Given the description of an element on the screen output the (x, y) to click on. 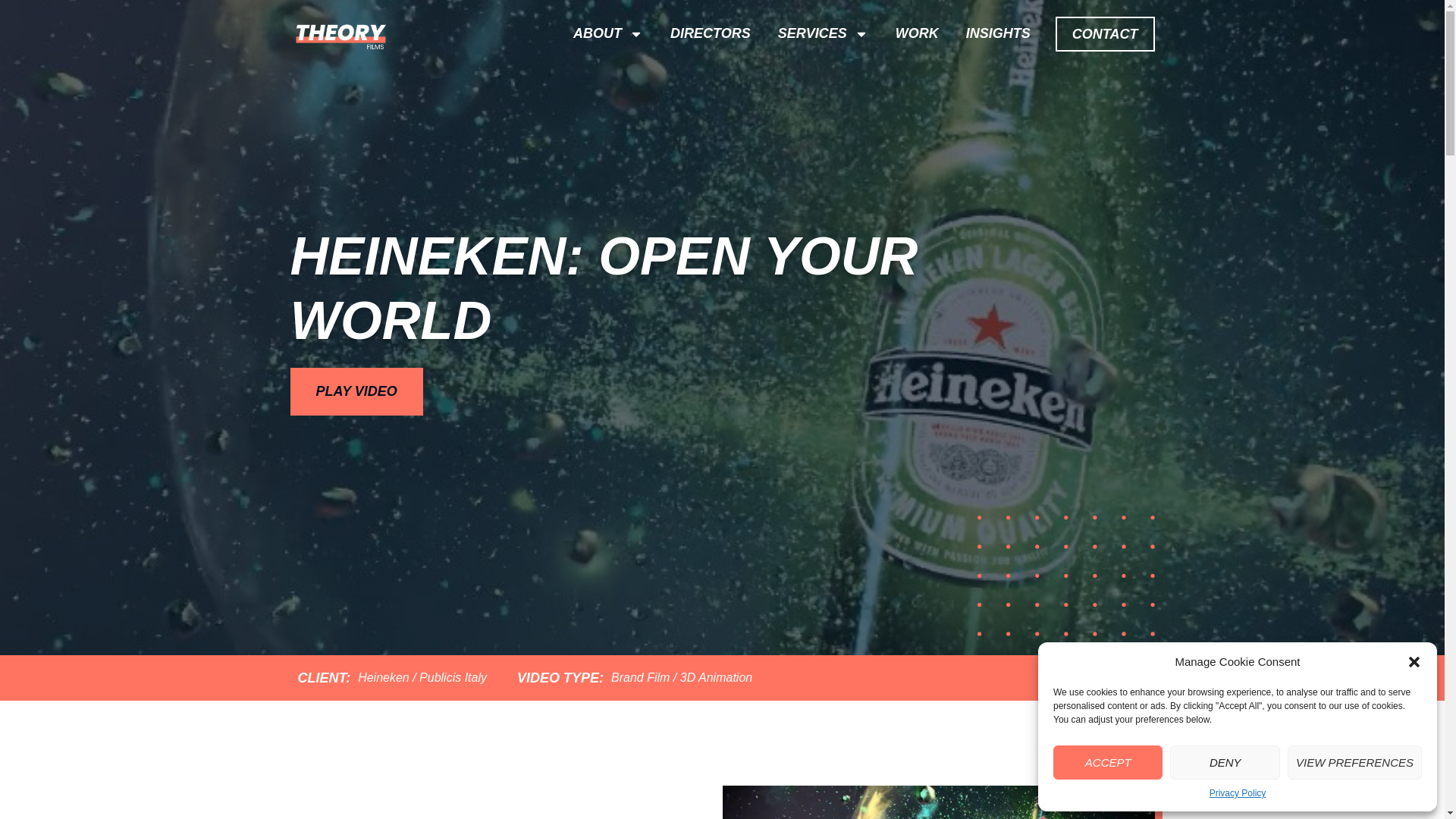
VIEW PREFERENCES (1354, 762)
Privacy Policy (1237, 793)
DIRECTORS (710, 33)
INSIGHTS (997, 33)
ACCEPT (1106, 762)
WORK (916, 33)
ABOUT (607, 33)
DENY (1224, 762)
SERVICES (823, 33)
